Given the description of an element on the screen output the (x, y) to click on. 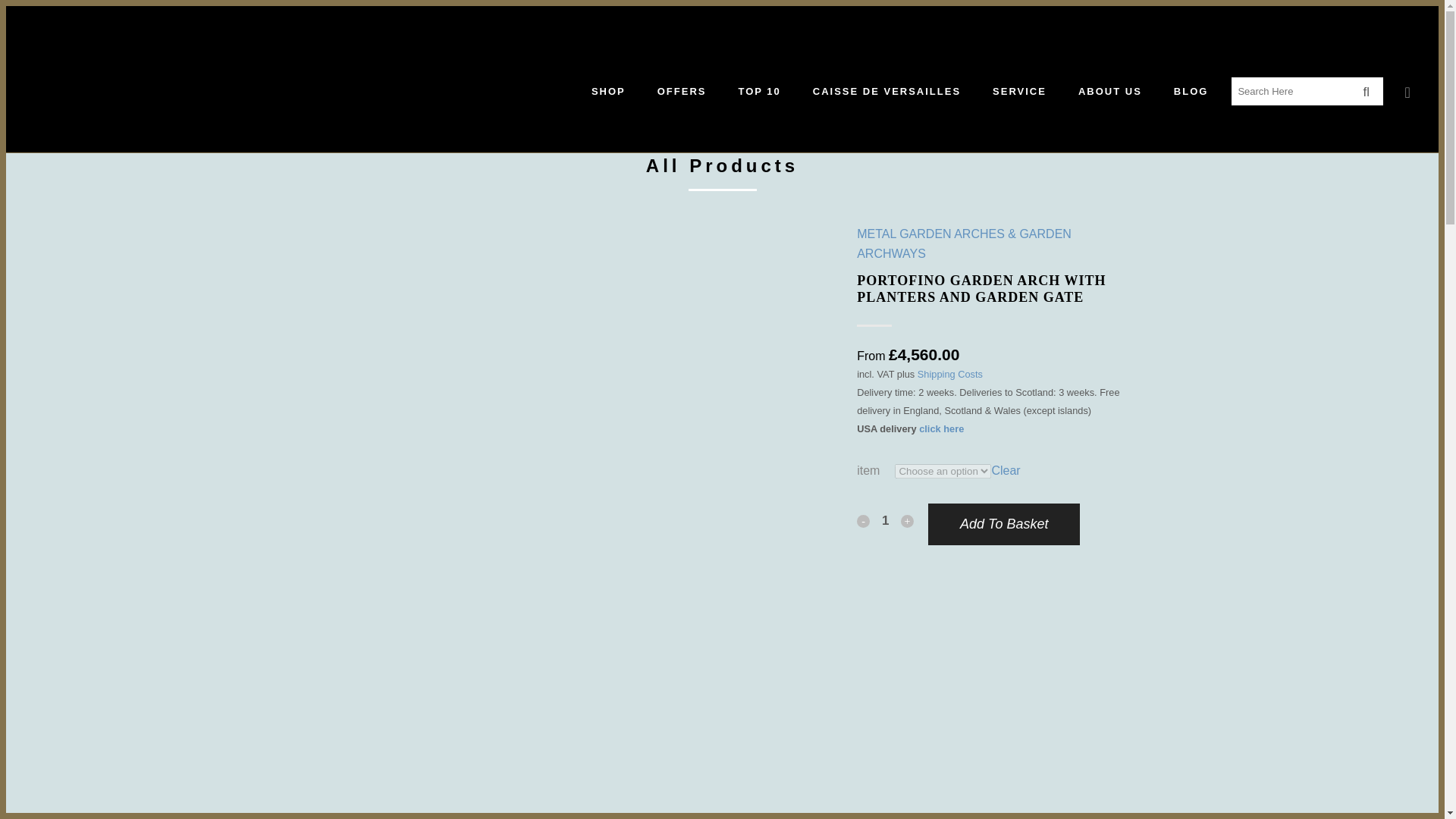
1 (885, 520)
- (863, 521)
CAISSE DE VERSAILLES (886, 91)
